Given the description of an element on the screen output the (x, y) to click on. 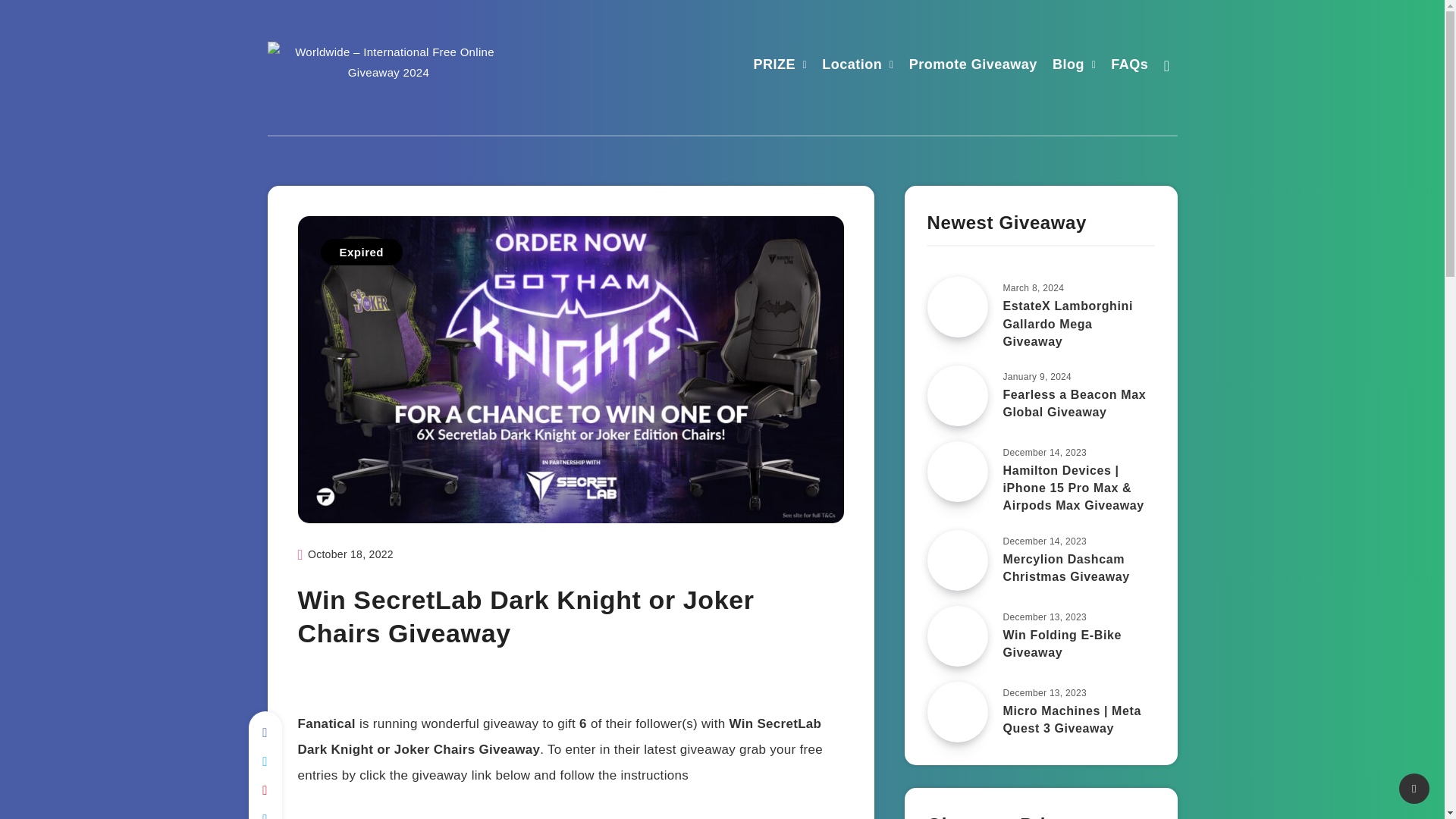
Expired (361, 252)
Location (852, 65)
Blog (1068, 65)
Promote Giveaway (972, 65)
PRIZE (775, 65)
FAQs (1129, 65)
